Given the description of an element on the screen output the (x, y) to click on. 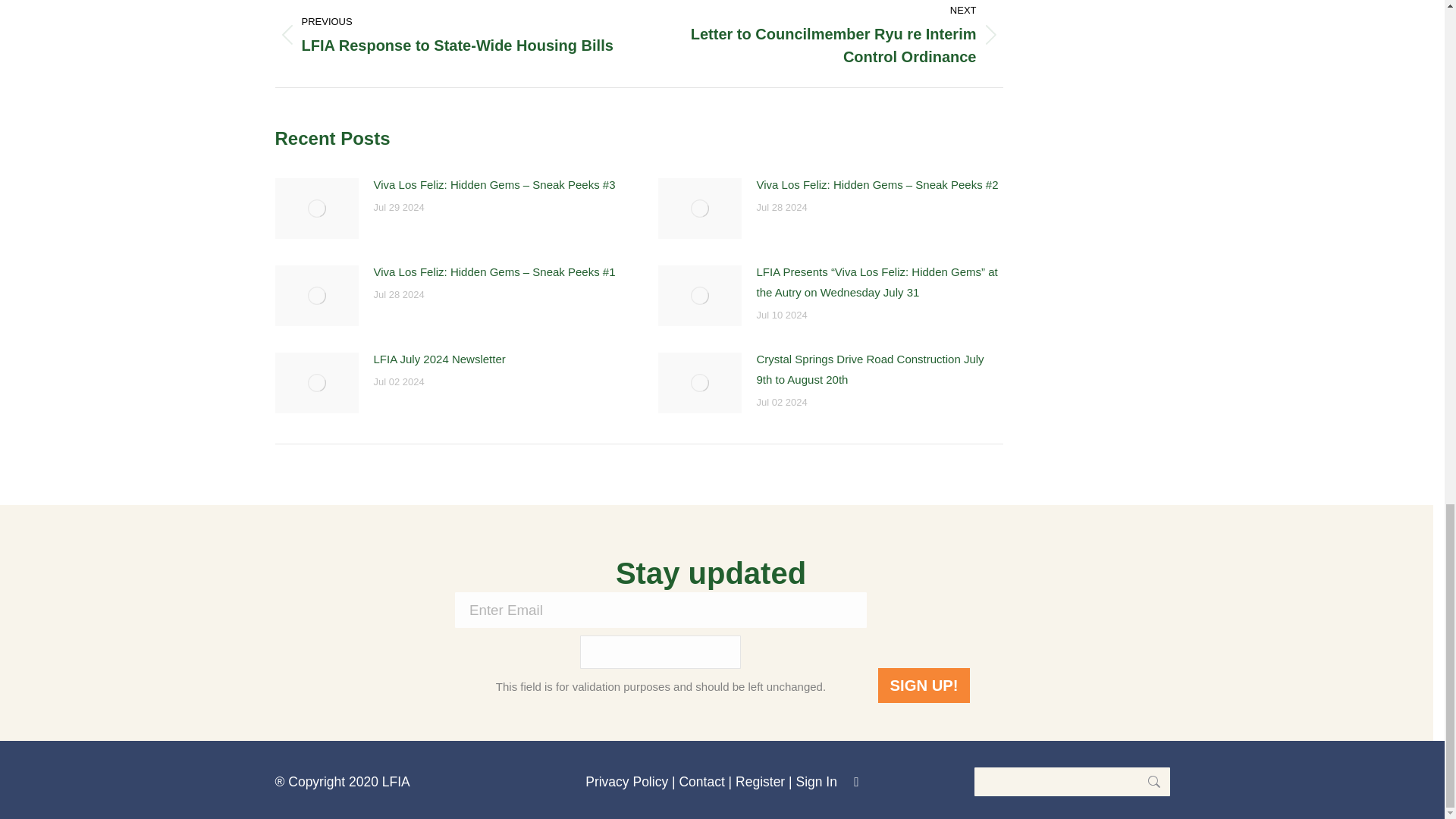
SIGN UP! (923, 685)
Go! (1146, 781)
Go! (1146, 781)
